Given the description of an element on the screen output the (x, y) to click on. 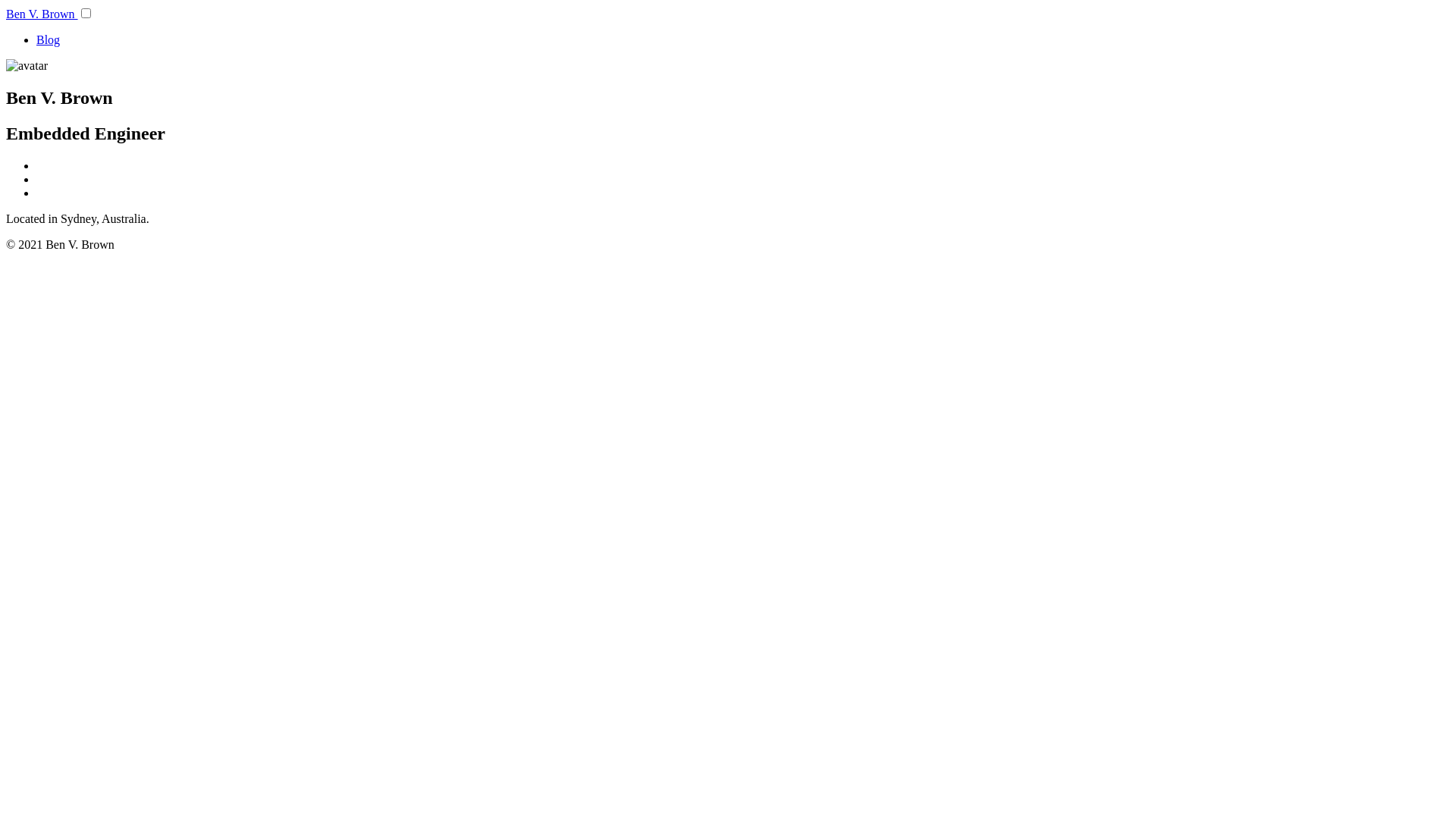
Ben V. Brown Element type: text (42, 13)
Blog Element type: text (47, 39)
